Given the description of an element on the screen output the (x, y) to click on. 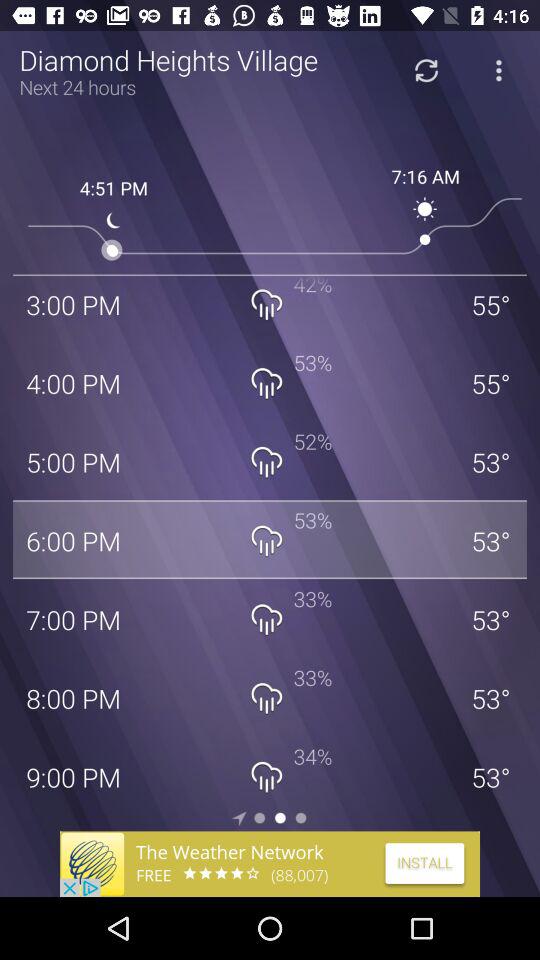
open option panel (498, 70)
